Given the description of an element on the screen output the (x, y) to click on. 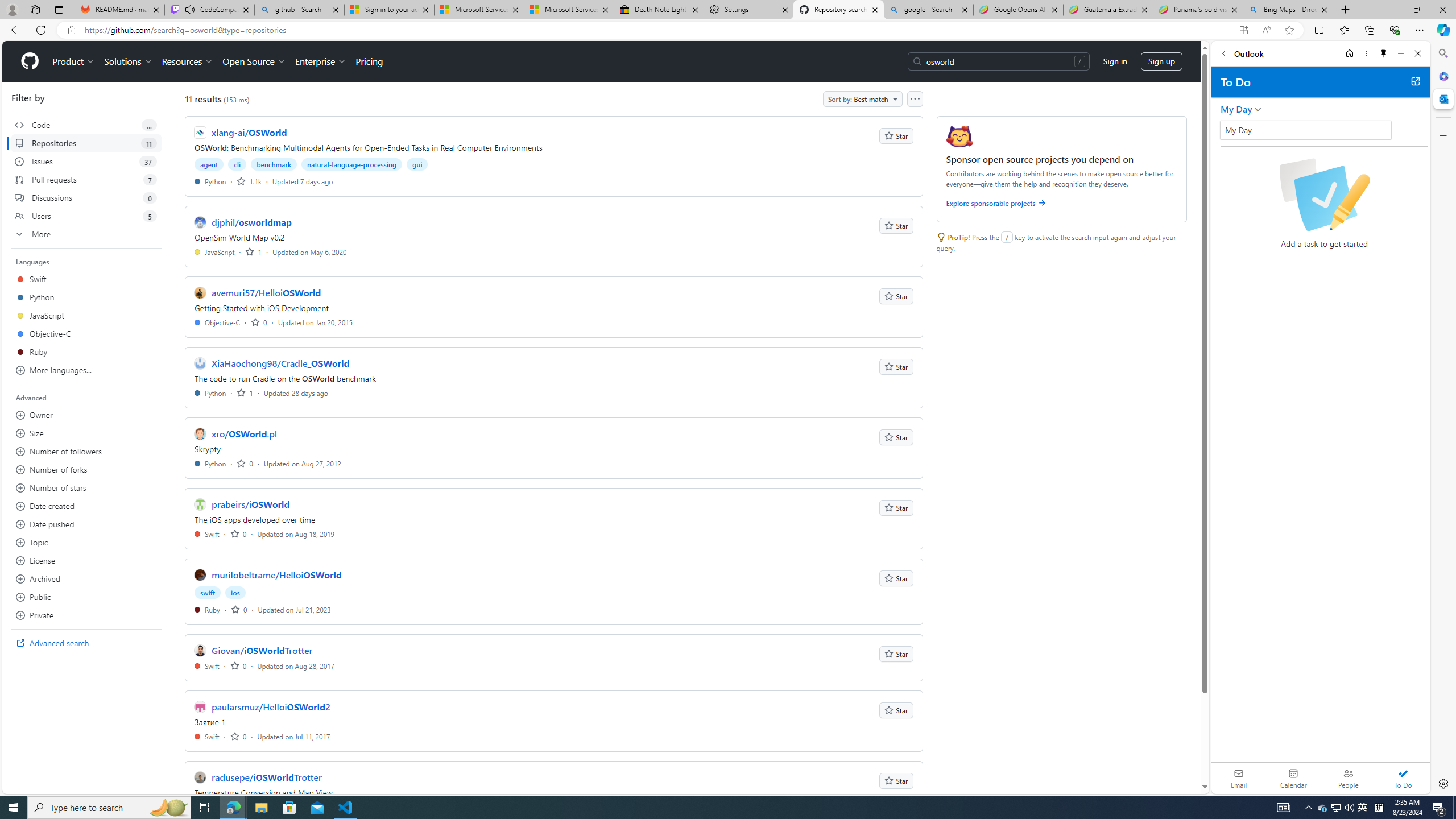
Solutions (128, 60)
Updated on Jul 21, 2023 (293, 609)
0 (238, 736)
1099 stars (248, 181)
Updated 28 days ago (295, 392)
Add a task (1334, 133)
ios (235, 592)
radusepe/iOSWorldTrotter (266, 777)
